Given the description of an element on the screen output the (x, y) to click on. 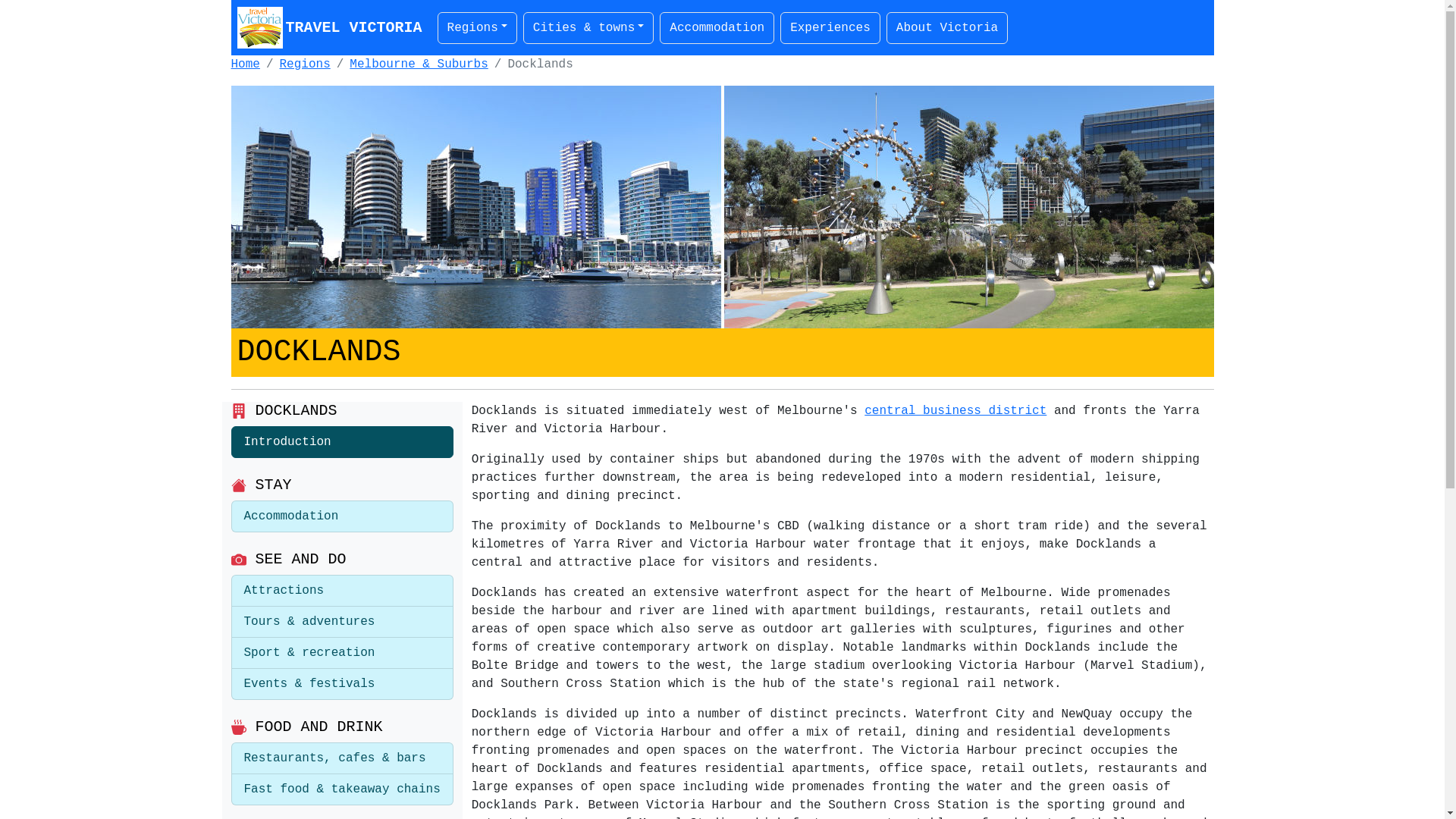
Tours & adventures Element type: text (341, 621)
Home Element type: text (244, 64)
central business district Element type: text (955, 410)
About Victoria Element type: text (947, 27)
Fast food & takeaway chains Element type: text (341, 789)
Regions Element type: text (304, 64)
Events & festivals Element type: text (341, 683)
TRAVEL VICTORIA Element type: text (327, 27)
Experiences Element type: text (830, 27)
Restaurants, cafes & bars Element type: text (341, 758)
Attractions Element type: text (341, 590)
Melbourne & Suburbs Element type: text (418, 64)
Cities & towns Element type: text (588, 27)
Accommodation Element type: text (716, 27)
Sport & recreation Element type: text (341, 652)
Introduction Element type: text (341, 442)
Regions Element type: text (477, 27)
Accommodation Element type: text (341, 516)
